Given the description of an element on the screen output the (x, y) to click on. 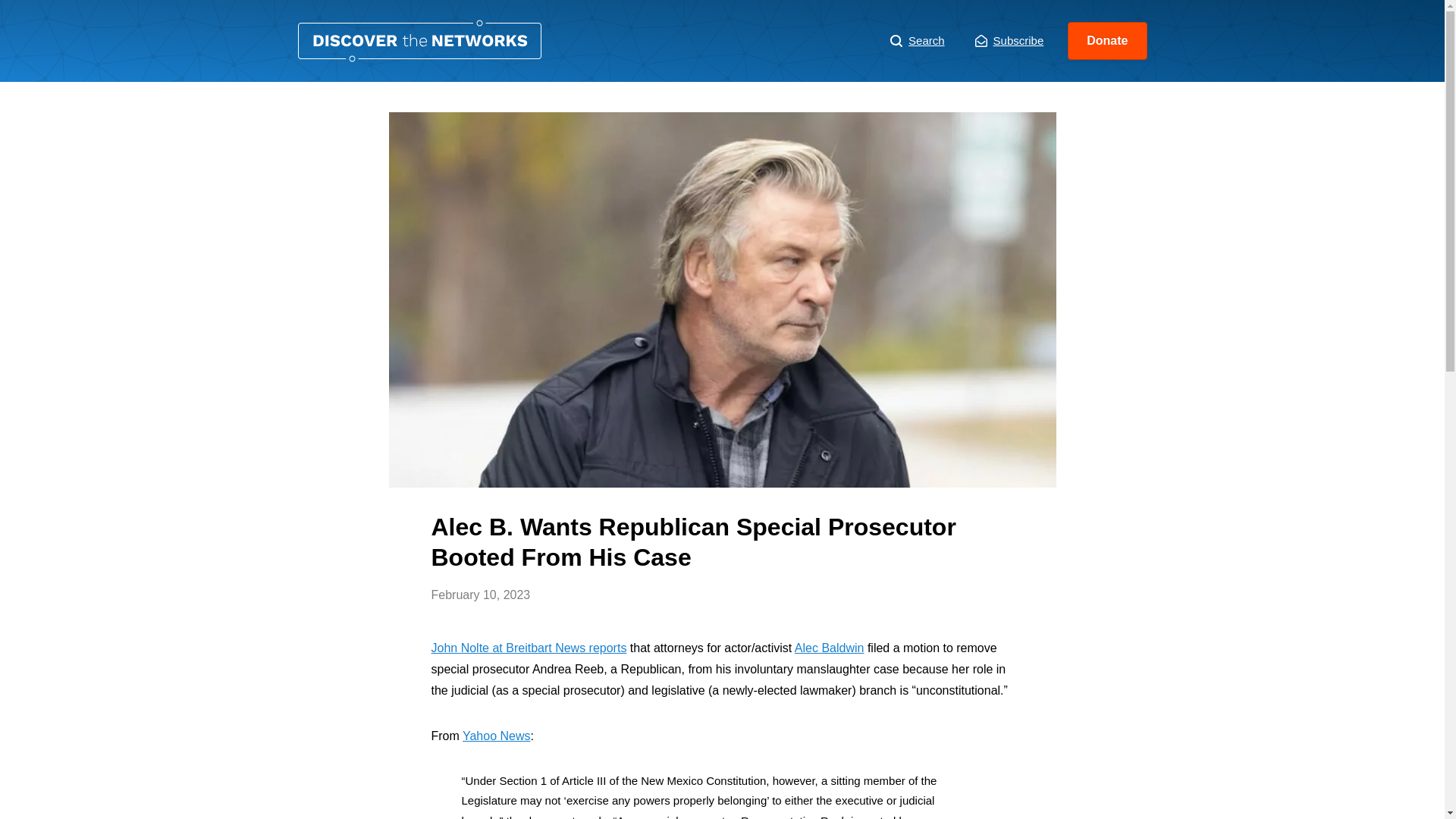
Donate (1107, 40)
John Nolte at Breitbart News reports (528, 647)
Subscribe (1009, 40)
Alec Baldwin (829, 647)
Yahoo News (497, 735)
Search (916, 40)
